Given the description of an element on the screen output the (x, y) to click on. 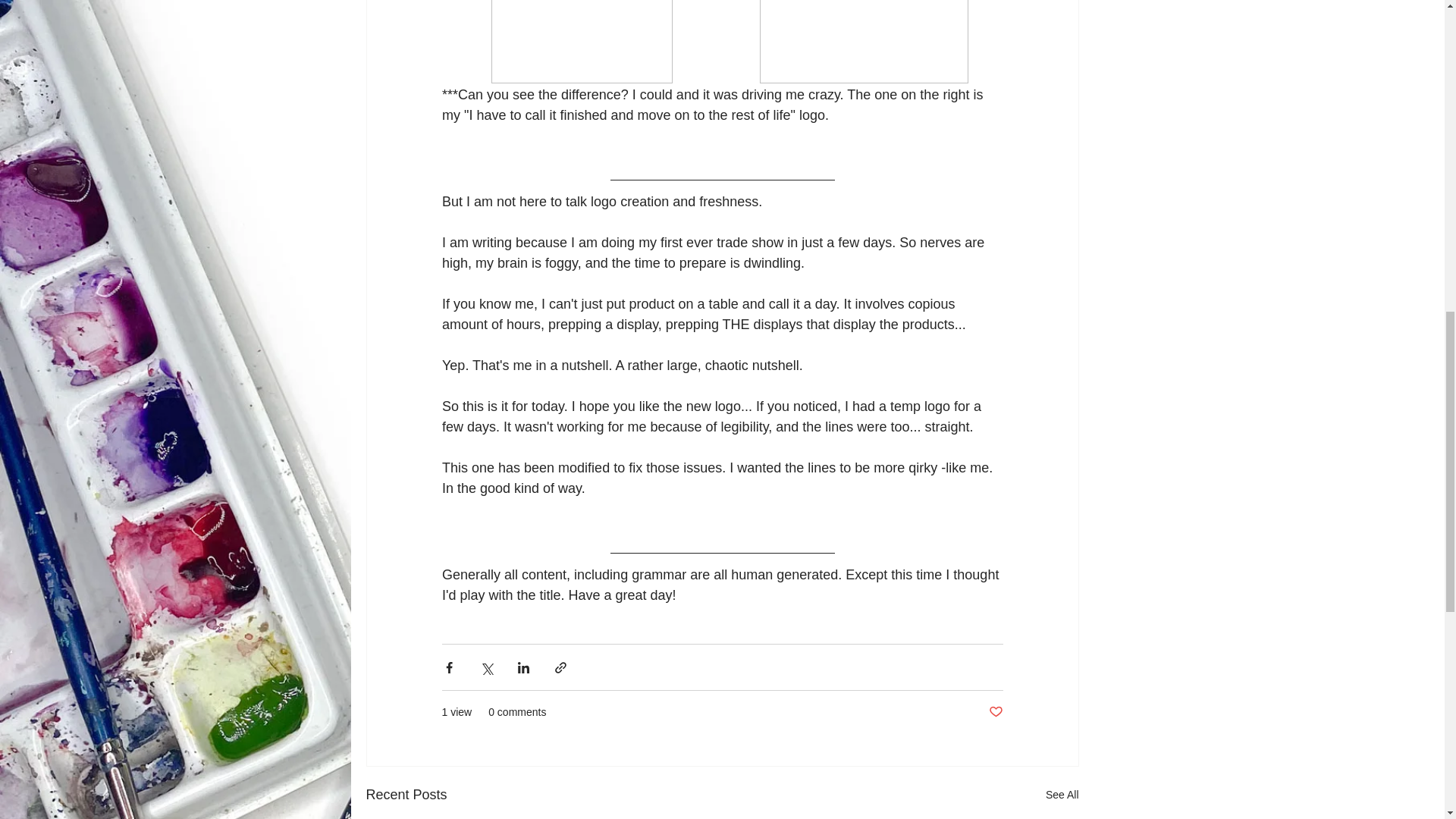
Post not marked as liked (995, 712)
See All (1061, 794)
